Given the description of an element on the screen output the (x, y) to click on. 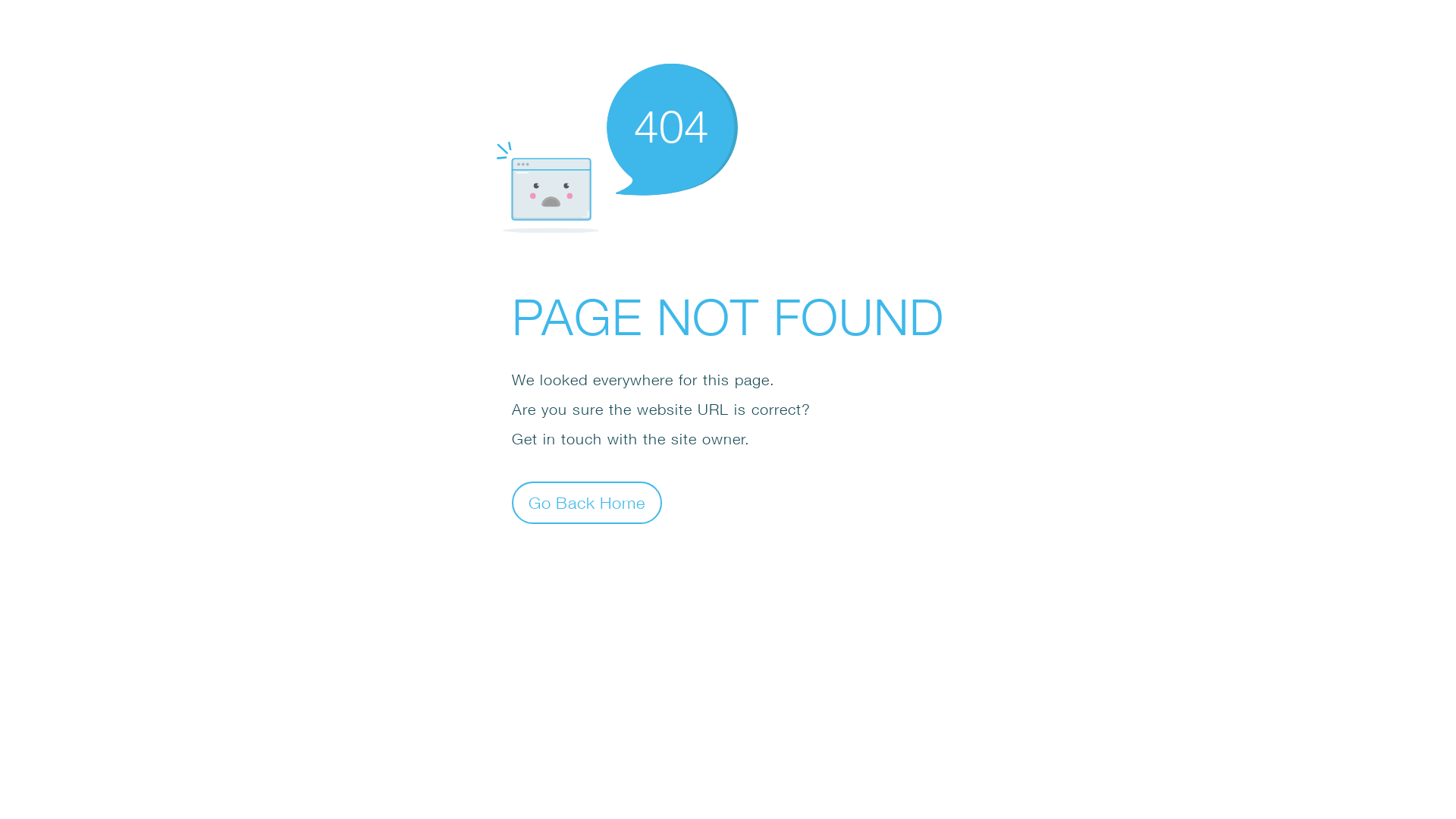
Go Back Home Element type: text (586, 502)
